Given the description of an element on the screen output the (x, y) to click on. 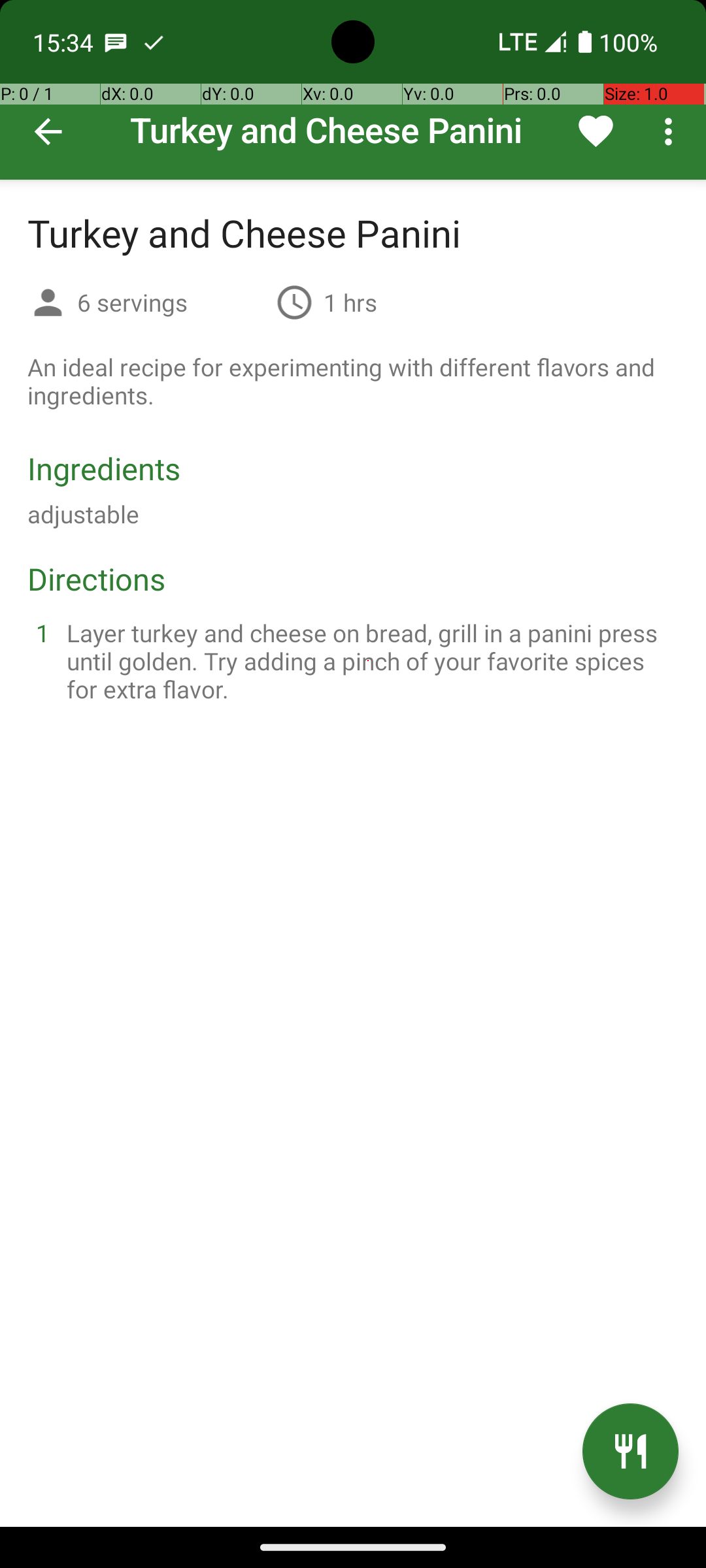
Turkey and Cheese Panini Element type: android.widget.FrameLayout (353, 89)
Layer turkey and cheese on bread, grill in a panini press until golden. Try adding a pinch of your favorite spices for extra flavor. Element type: android.widget.TextView (368, 660)
